Given the description of an element on the screen output the (x, y) to click on. 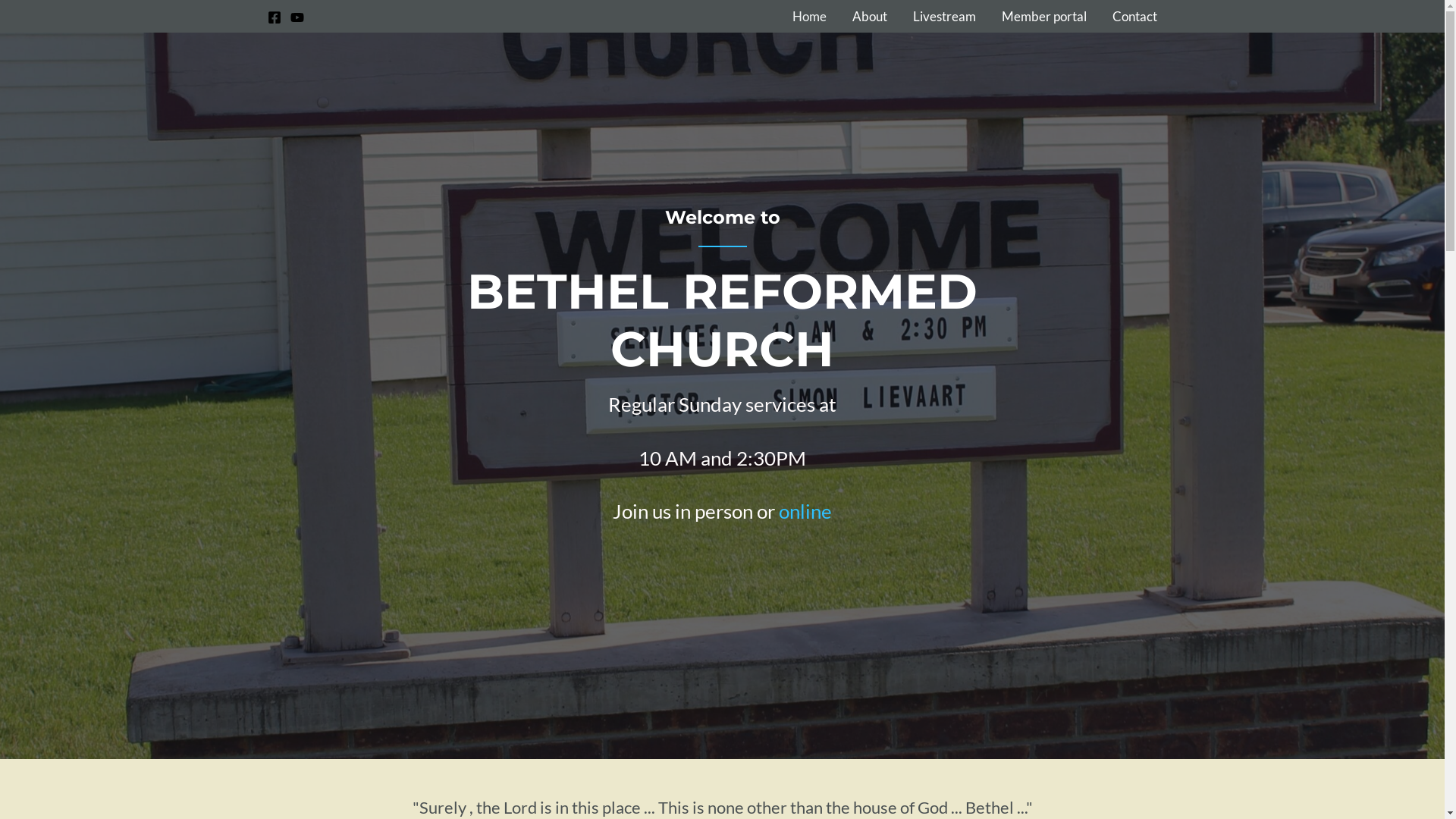
Livestream Element type: text (943, 16)
online Element type: text (804, 510)
Member portal Element type: text (1043, 16)
Contact Element type: text (1134, 16)
Home Element type: text (809, 16)
About Element type: text (868, 16)
